Given the description of an element on the screen output the (x, y) to click on. 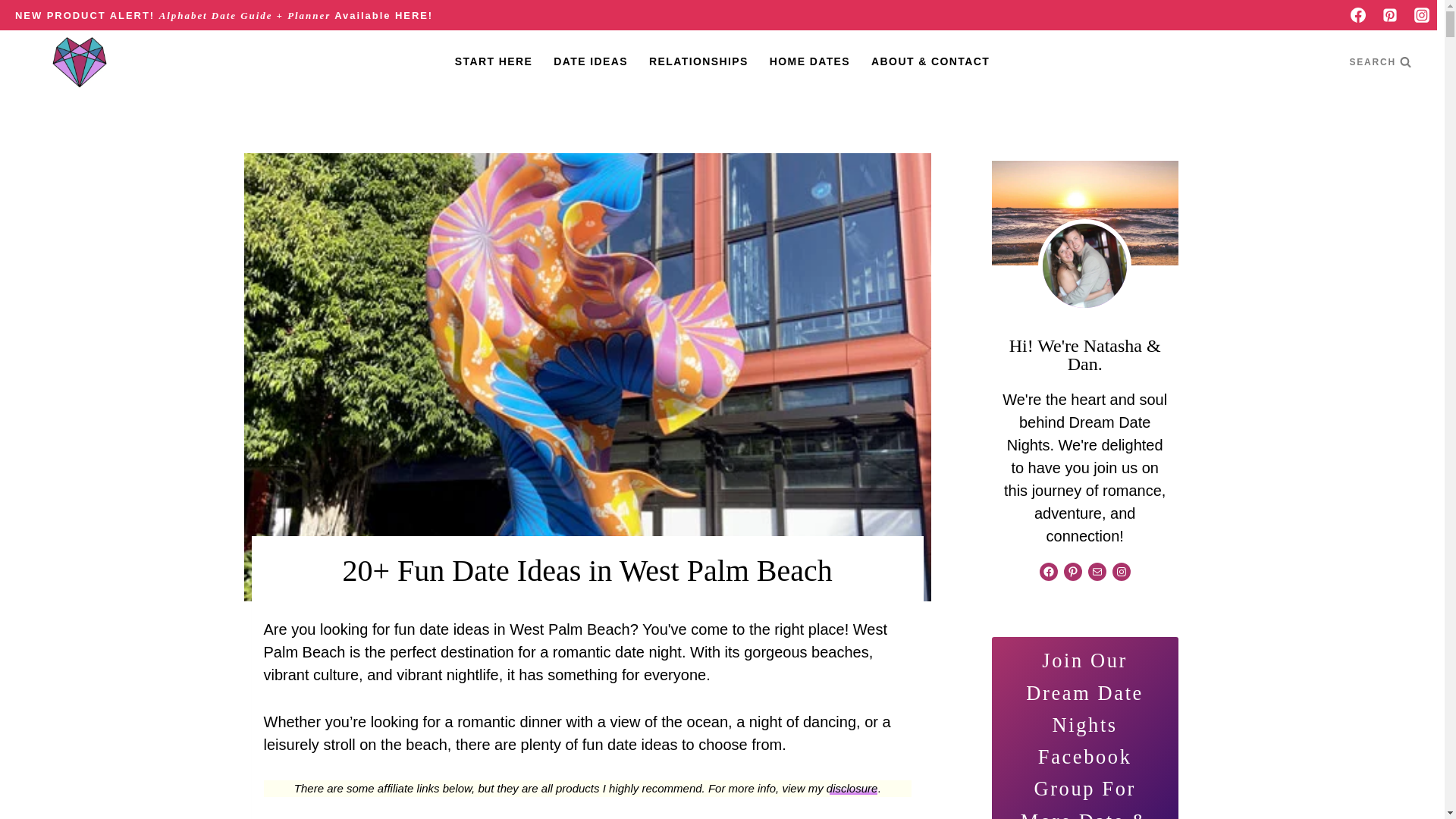
HOME DATES (809, 61)
RELATIONSHIPS (698, 61)
disclosure (852, 788)
DATE IDEAS (591, 61)
SEARCH (1380, 60)
HERE (411, 14)
START HERE (493, 61)
